Given the description of an element on the screen output the (x, y) to click on. 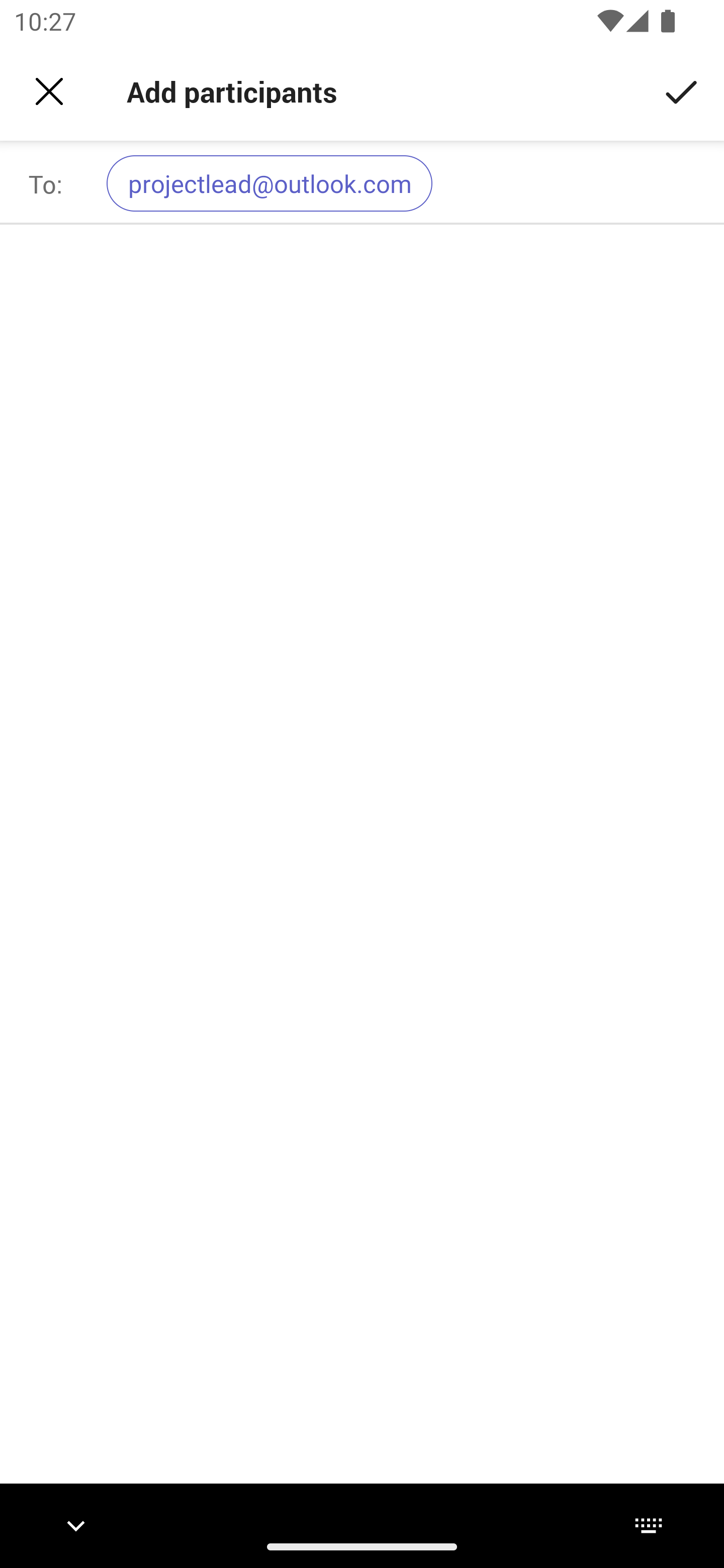
Back (49, 91)
Submit (681, 90)
Add users projectlead@outlook.com (407, 183)
